Given the description of an element on the screen output the (x, y) to click on. 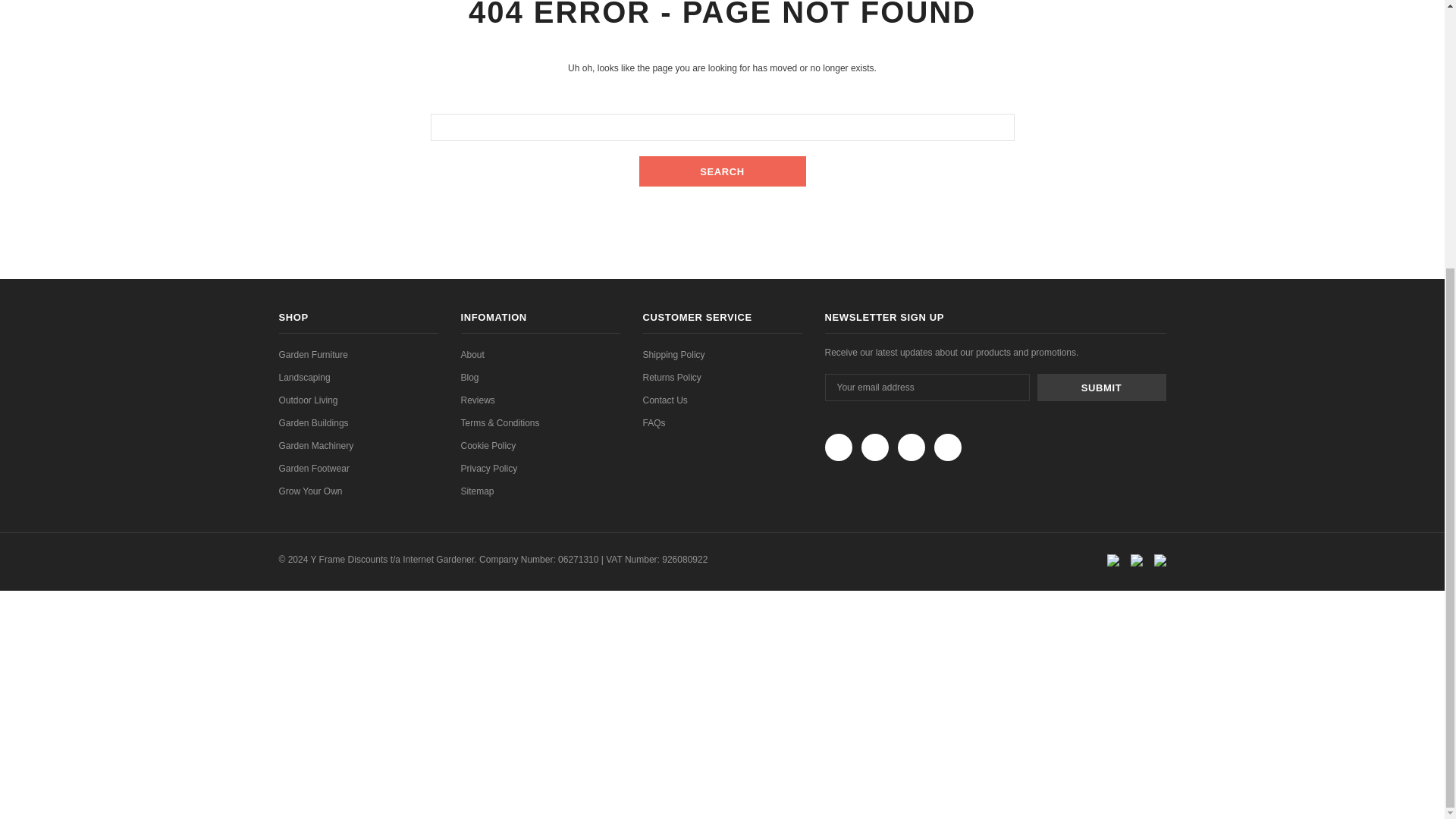
Submit (1101, 387)
Search (722, 171)
